Given the description of an element on the screen output the (x, y) to click on. 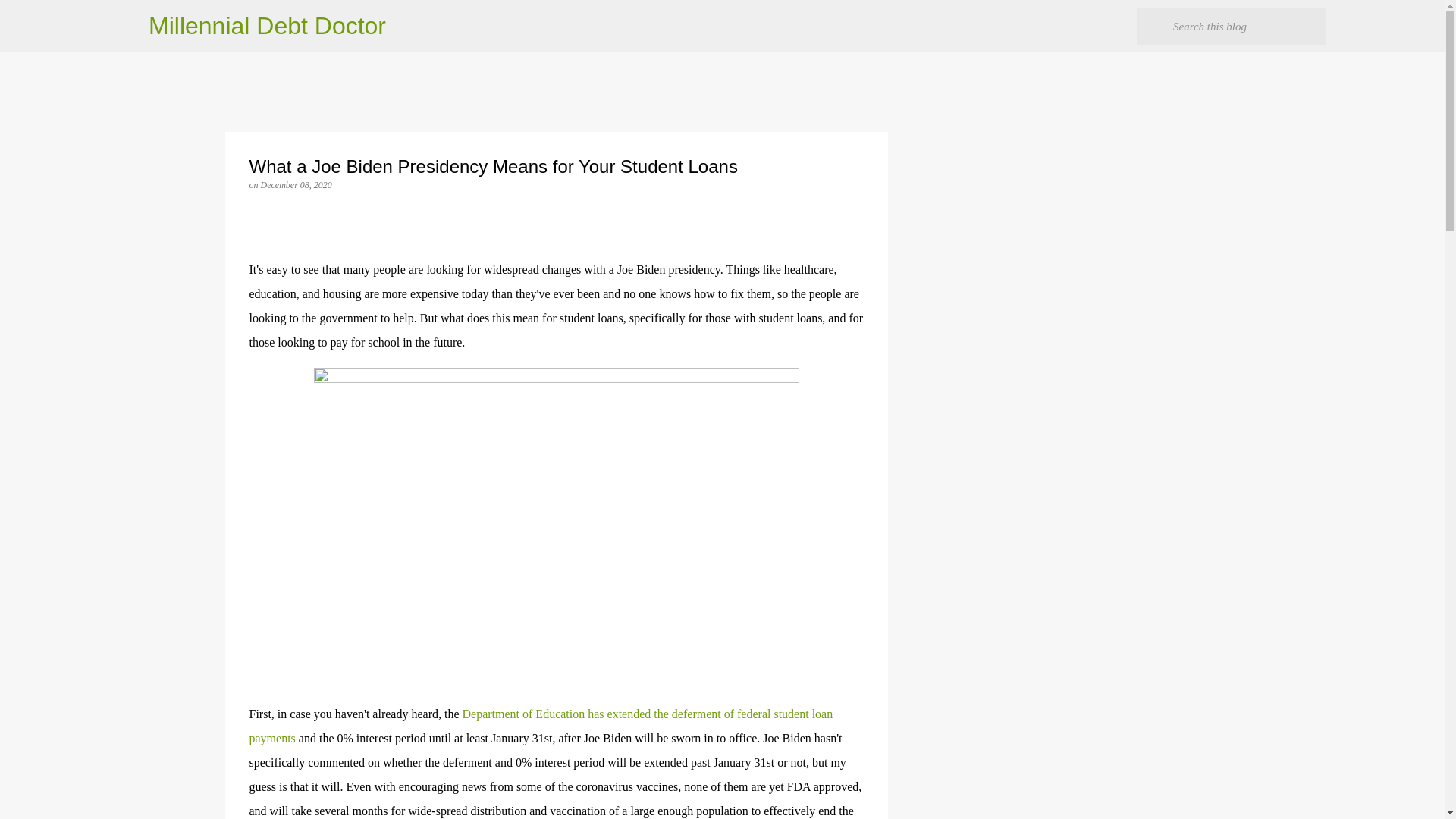
December 08, 2020 (295, 184)
Millennial Debt Doctor (266, 25)
permanent link (295, 184)
